Given the description of an element on the screen output the (x, y) to click on. 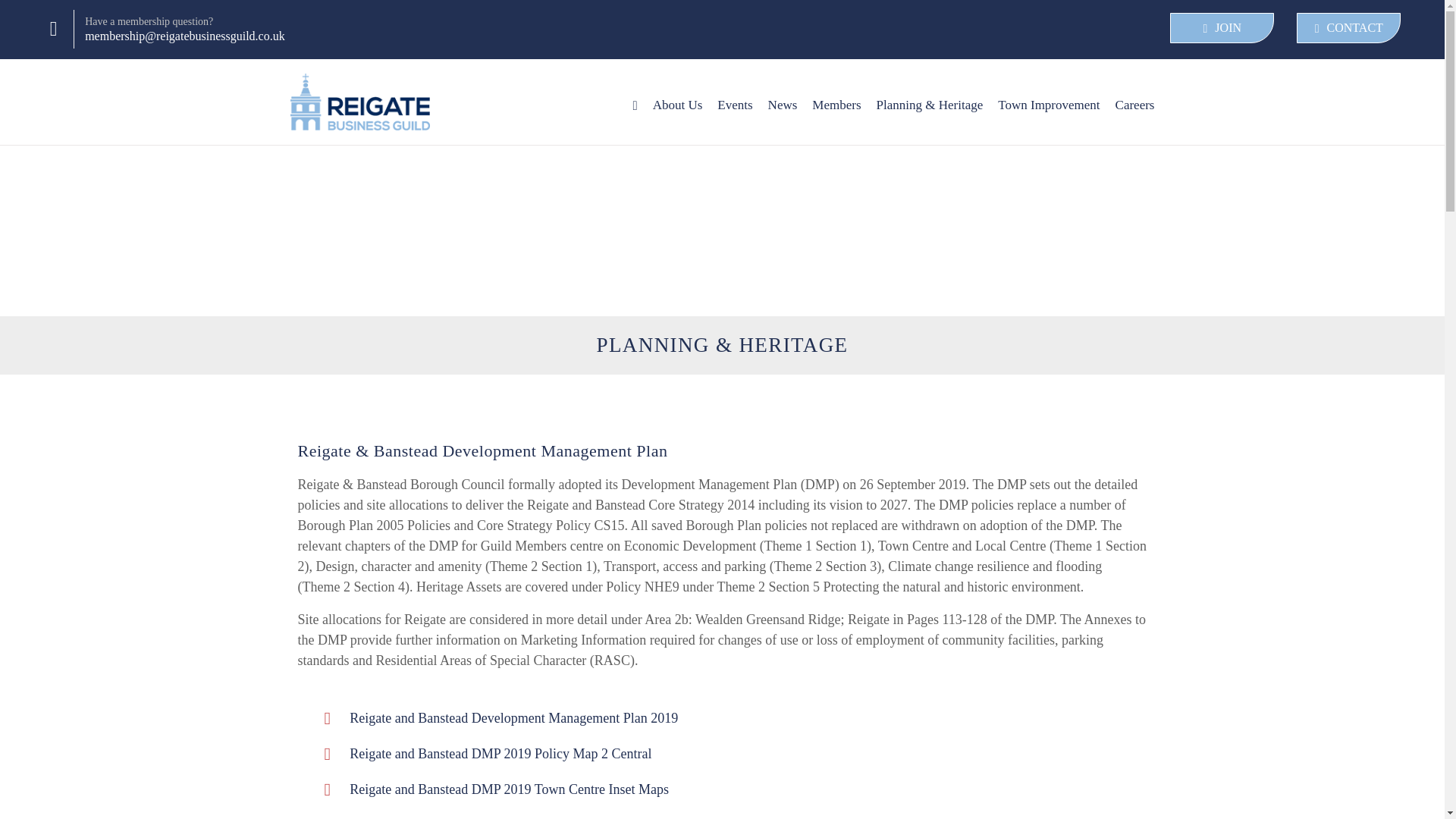
JOIN (1222, 28)
Town Improvement (1048, 104)
CONTACT (1348, 28)
Events (734, 104)
About Us (677, 104)
Careers (1134, 104)
Members (836, 104)
